Given the description of an element on the screen output the (x, y) to click on. 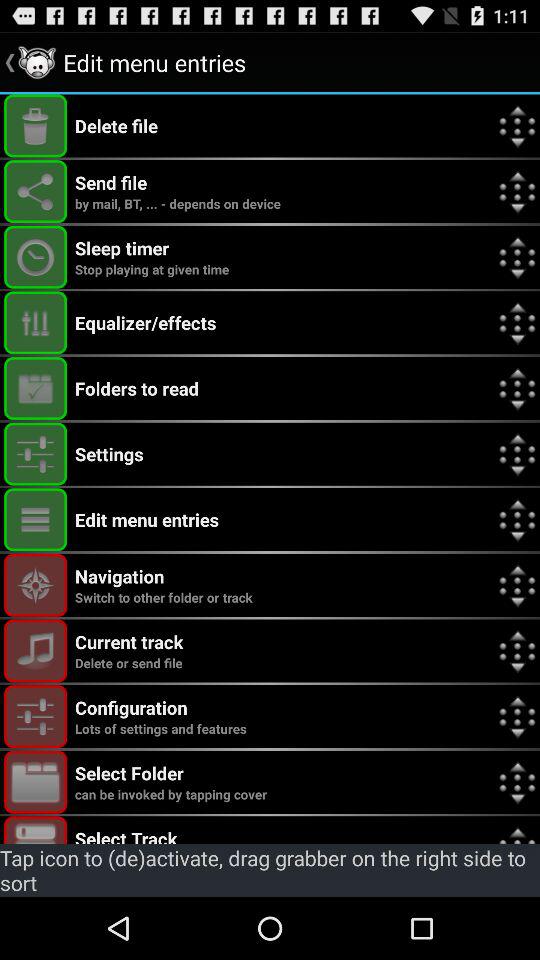
navigation (35, 584)
